Given the description of an element on the screen output the (x, y) to click on. 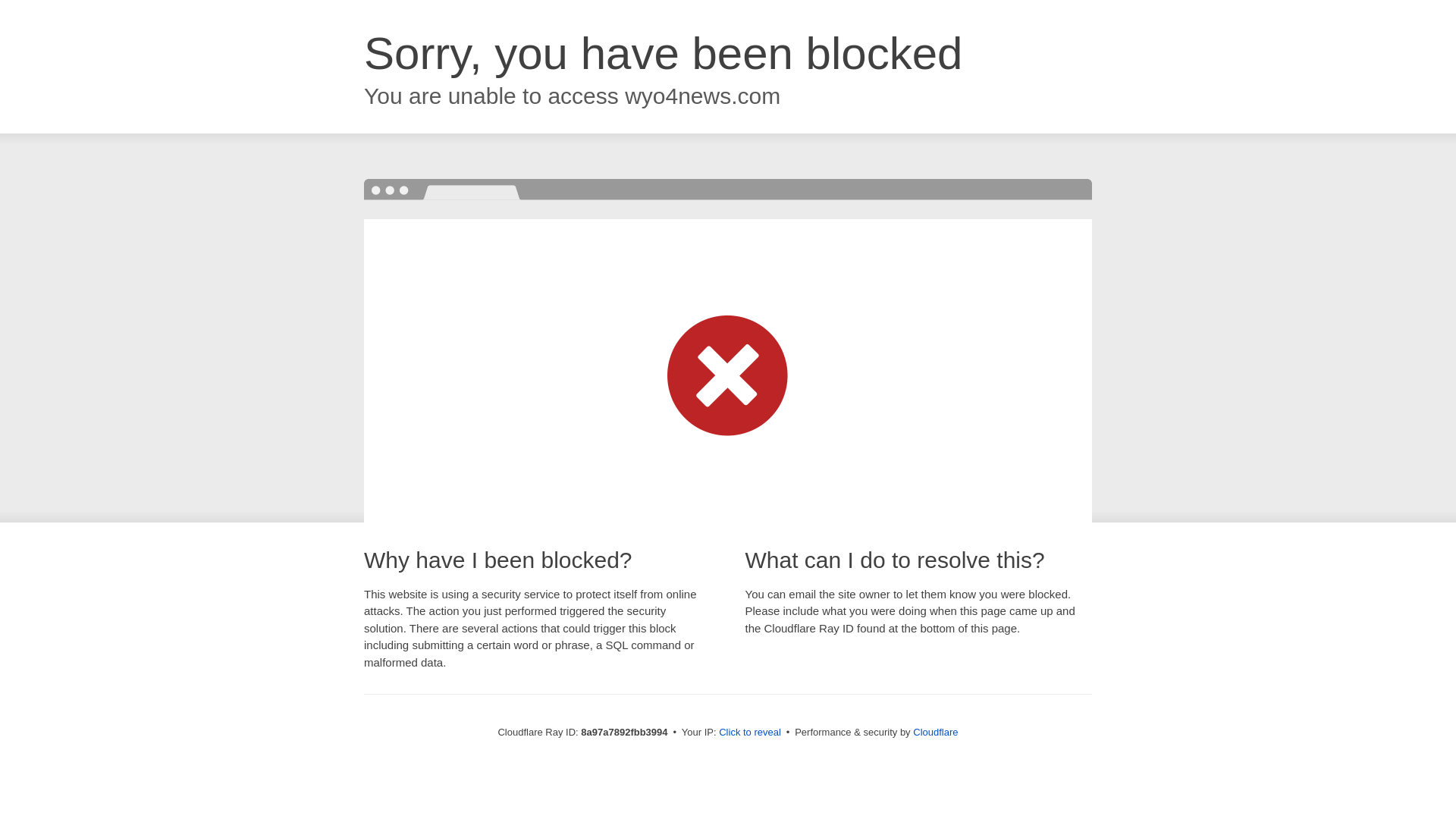
Cloudflare (935, 731)
Click to reveal (749, 732)
